Given the description of an element on the screen output the (x, y) to click on. 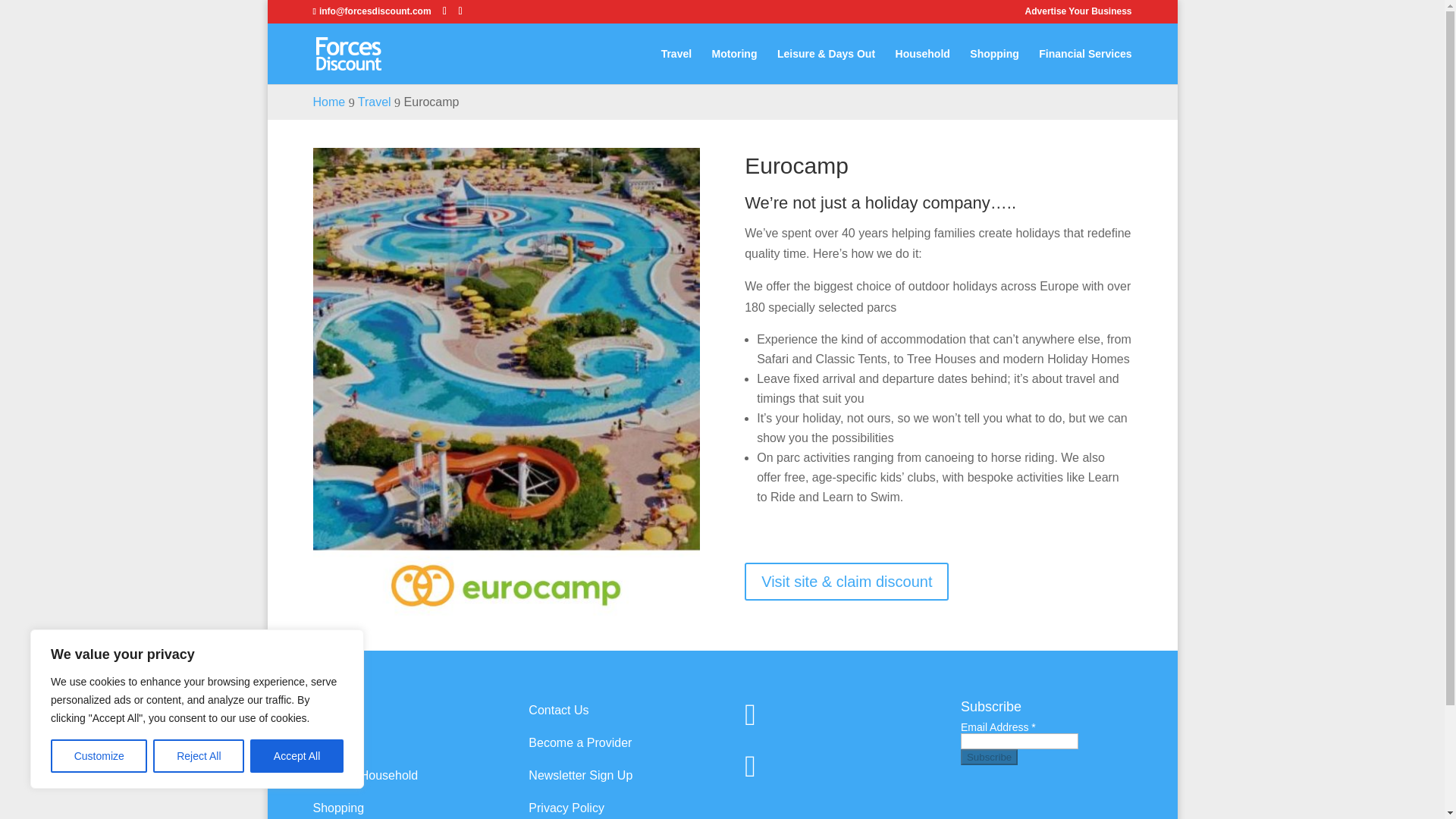
Financial Services (1085, 66)
Home (329, 101)
Travel (374, 101)
Subscribe (988, 756)
Shopping (994, 66)
Advertise Your Business (1078, 14)
Accept All (296, 756)
Travel (329, 709)
Customize (98, 756)
Motoring (734, 66)
Household (922, 66)
Reject All (198, 756)
Motoring (336, 742)
